Given the description of an element on the screen output the (x, y) to click on. 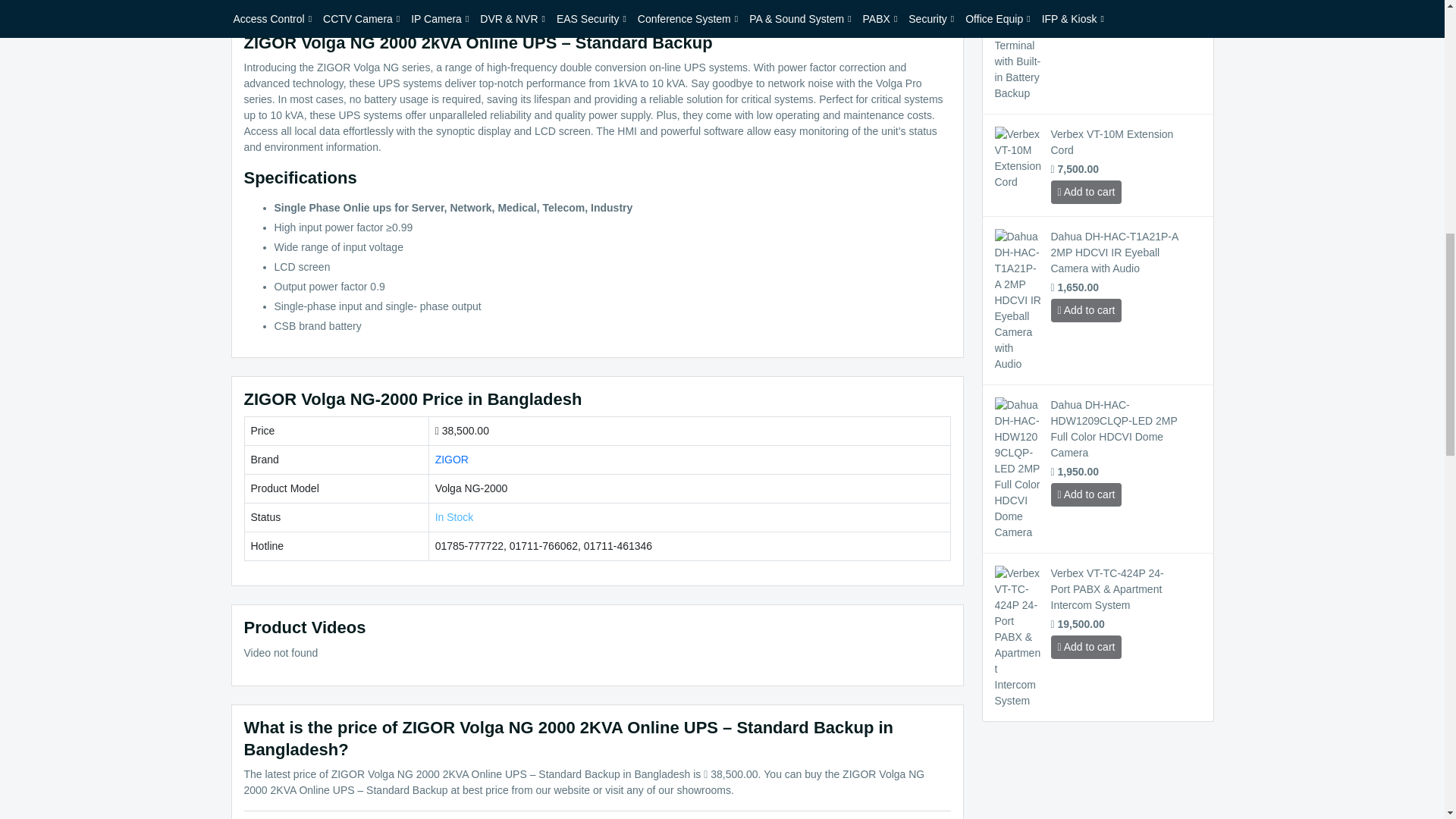
Add to Cart (1086, 2)
Add to Cart (1086, 494)
Add to Cart (1086, 647)
Add to Cart (1086, 191)
Add to Cart (1086, 310)
